Given the description of an element on the screen output the (x, y) to click on. 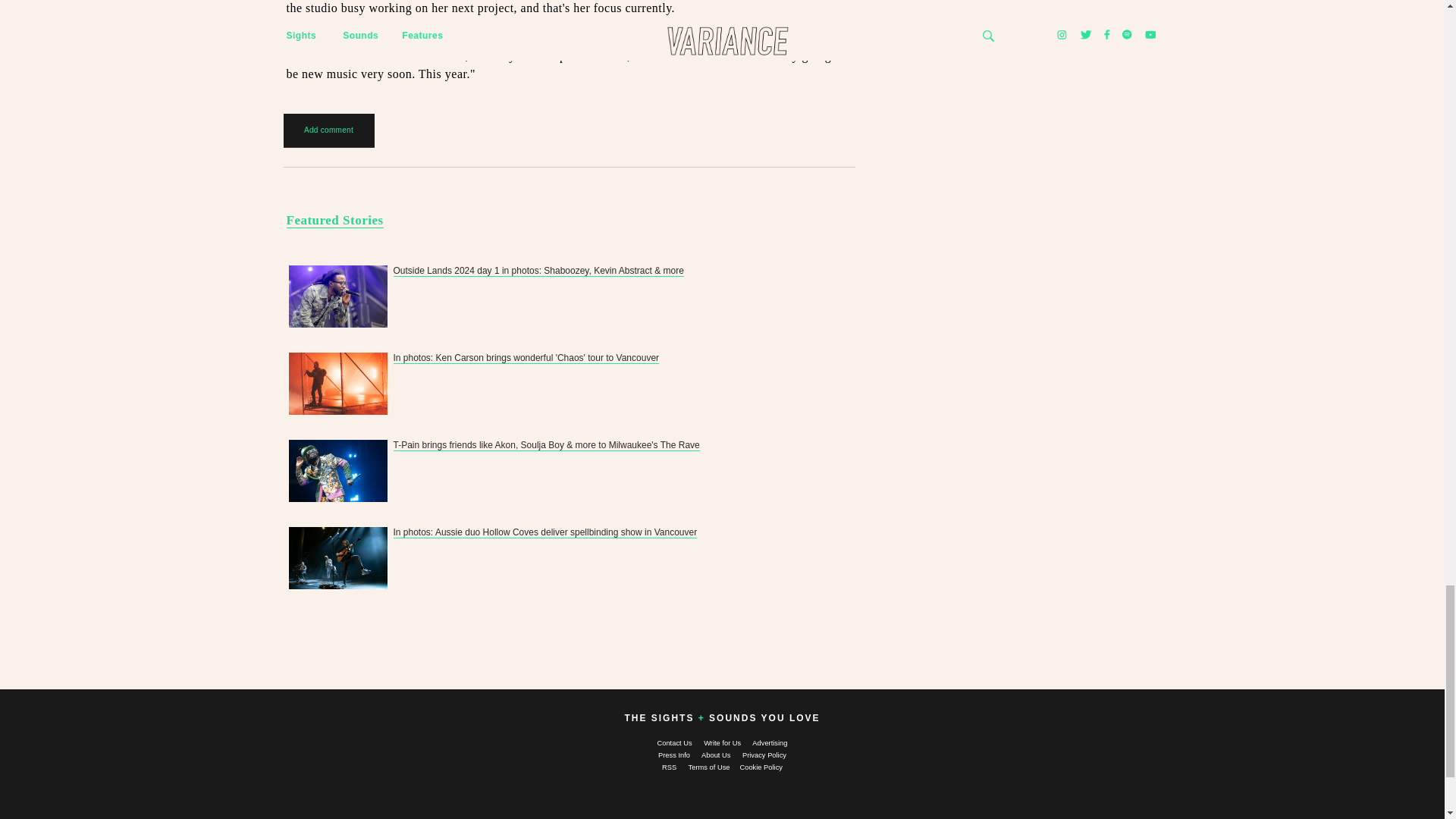
Add comment (328, 130)
